Given the description of an element on the screen output the (x, y) to click on. 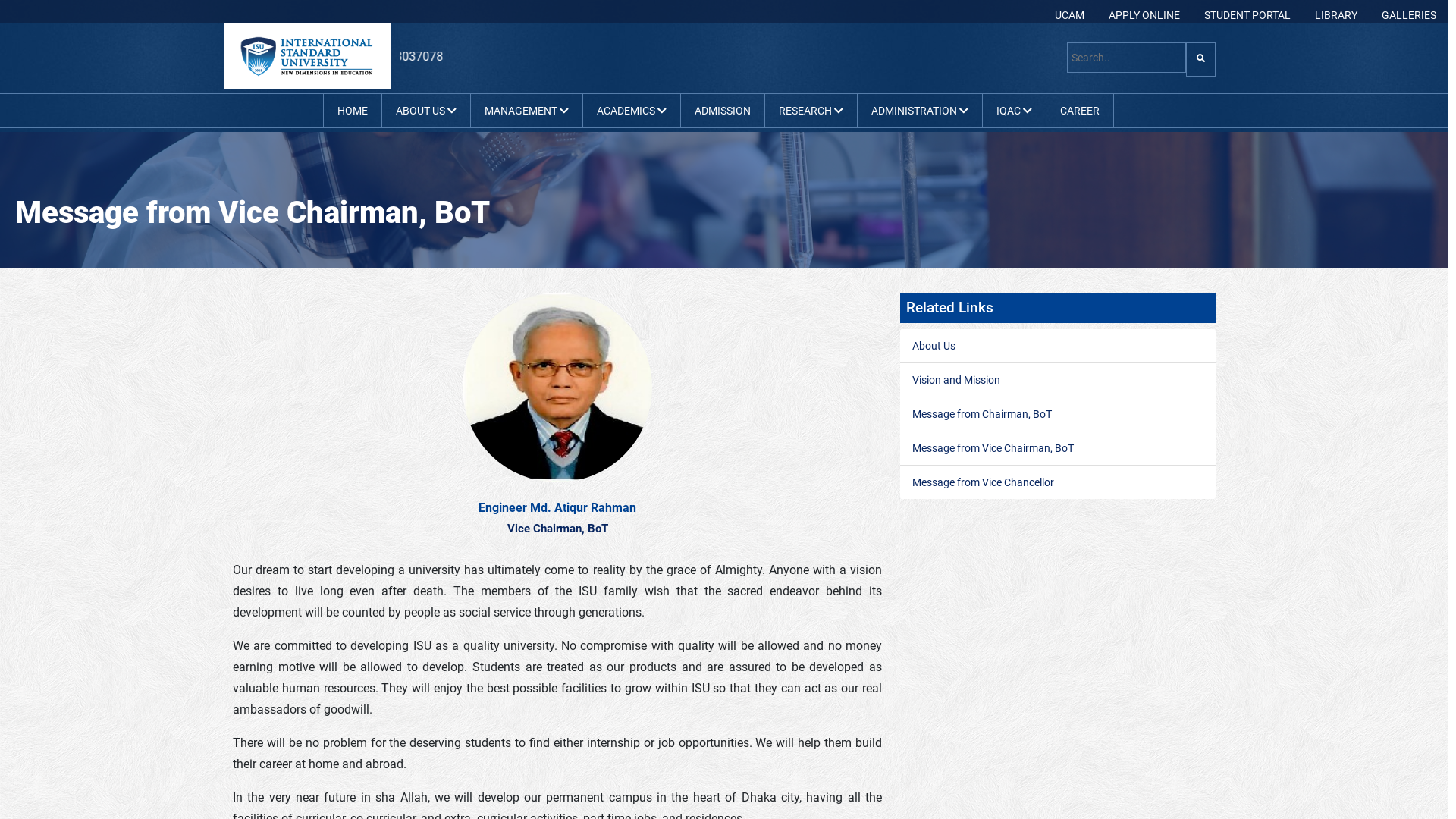
Message from Vice Chairman, BoT Element type: text (992, 448)
LIBRARY Element type: text (1335, 15)
ADMISSION Element type: text (722, 110)
Message from Vice Chancellor Element type: text (983, 482)
ACADEMICS Element type: text (630, 110)
Vision and Mission Element type: text (956, 379)
Message from Chairman, BoT Element type: text (981, 413)
MANAGEMENT Element type: text (525, 110)
APPLY ONLINE Element type: text (1144, 15)
UCAM Element type: text (1069, 15)
About Us Element type: text (933, 345)
ABOUT US Element type: text (425, 110)
STUDENT PORTAL Element type: text (1247, 15)
HOME Element type: text (351, 110)
CAREER Element type: text (1079, 110)
IQAC Element type: text (1014, 110)
ADMINISTRATION Element type: text (918, 110)
RESEARCH Element type: text (809, 110)
GALLERIES Element type: text (1408, 15)
